Given the description of an element on the screen output the (x, y) to click on. 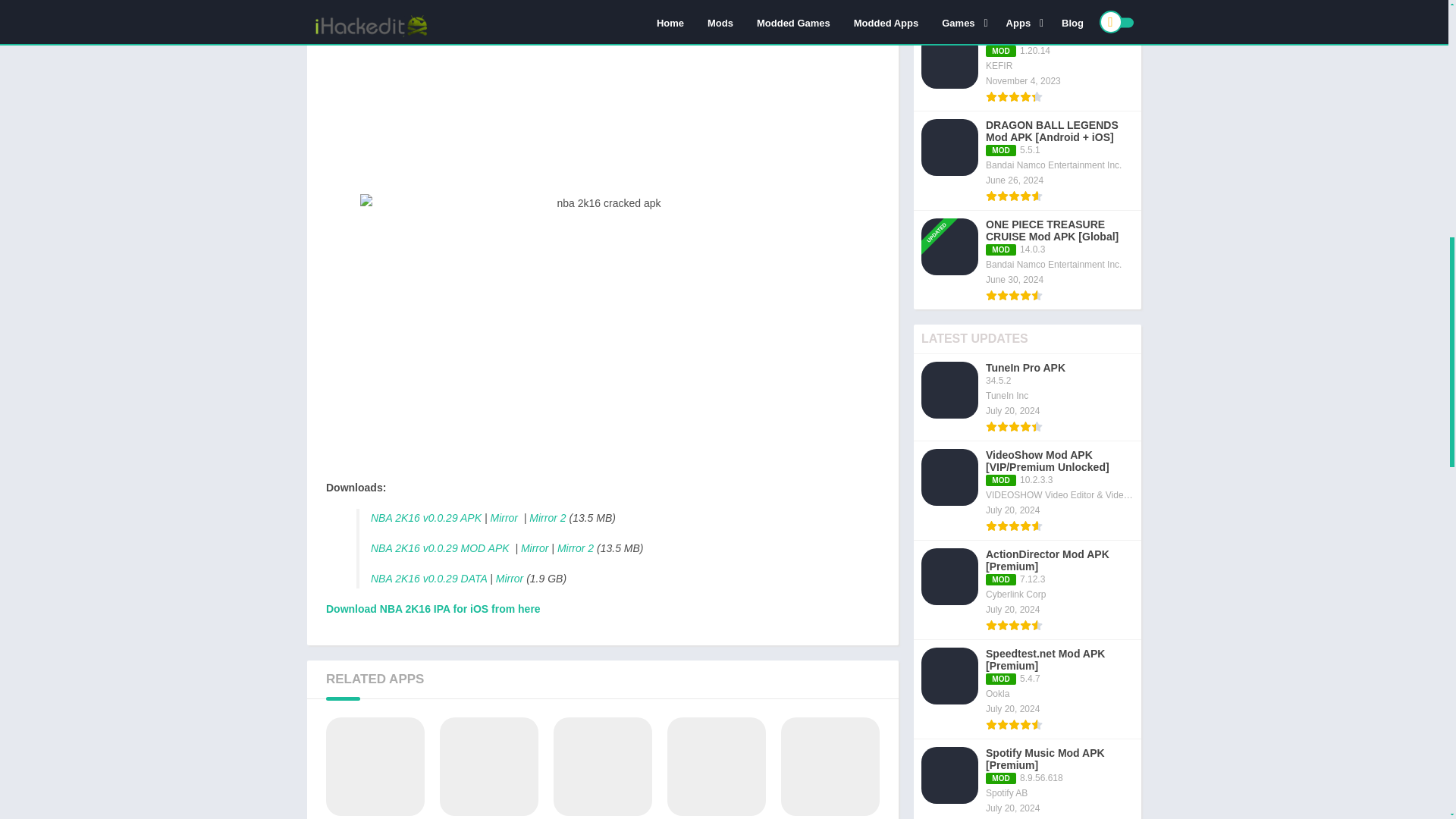
Updated (941, 212)
TuneIn Pro APK (375, 768)
